Given the description of an element on the screen output the (x, y) to click on. 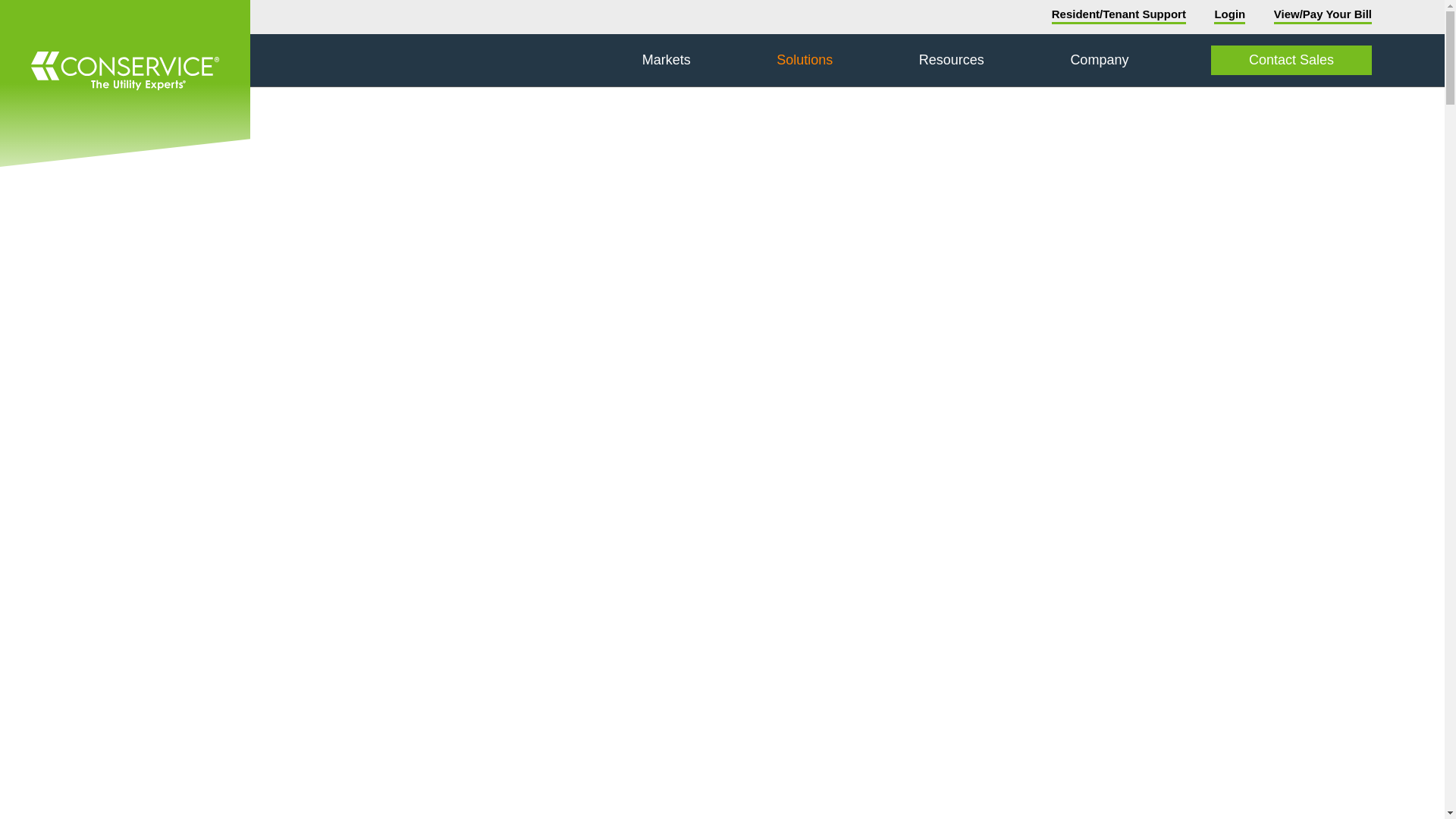
Solutions (804, 60)
Markets (666, 60)
Resources (951, 60)
Solutions (804, 60)
Login (1229, 17)
Markets (666, 60)
Company (1098, 60)
Conservice (125, 83)
Login (1229, 17)
